Given the description of an element on the screen output the (x, y) to click on. 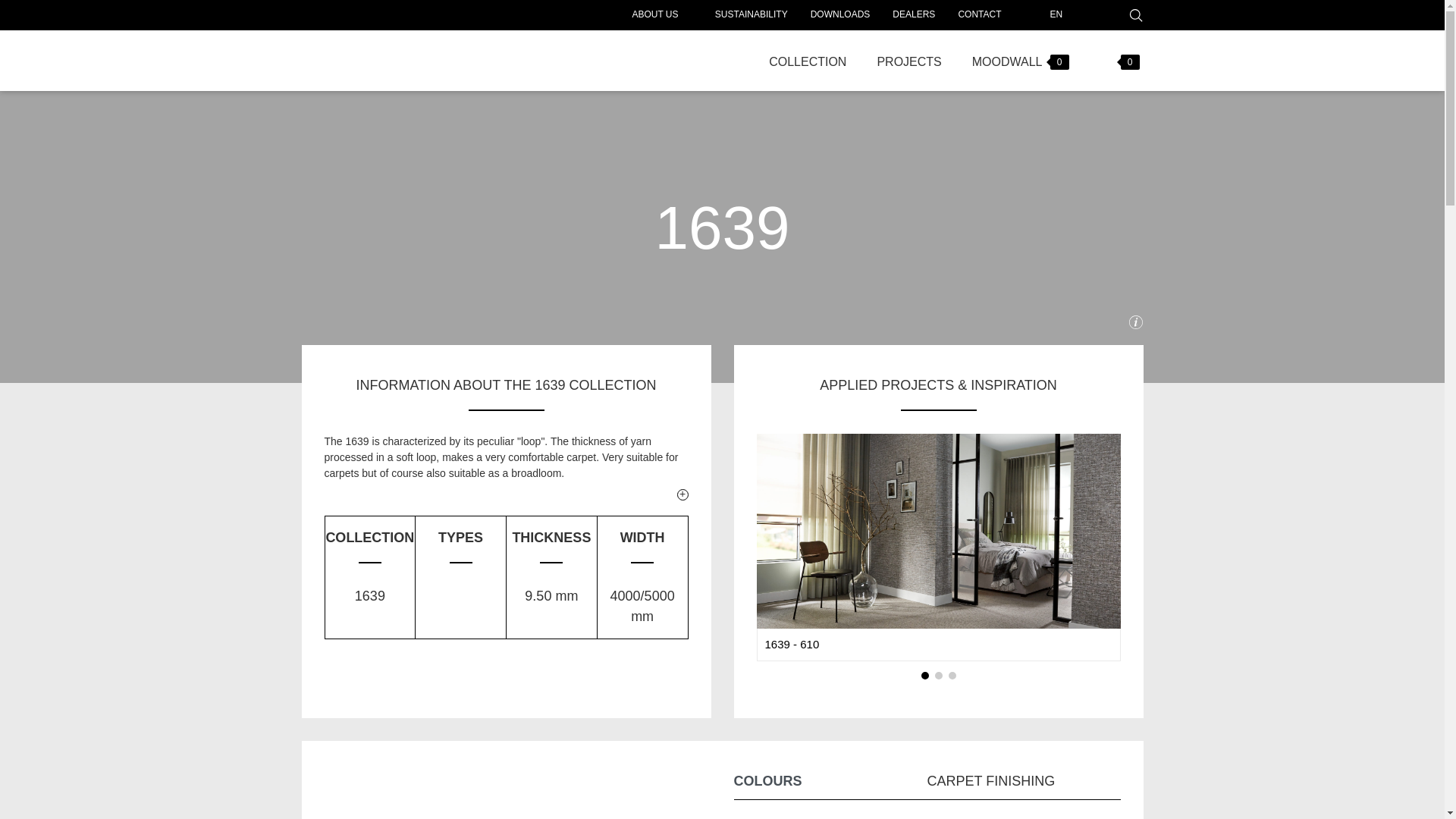
MOODWALL (1014, 60)
COLLECTION (807, 60)
English (1042, 14)
DOWNLOADS (840, 14)
CONTACT (978, 14)
ABOUT US (654, 14)
EN (1042, 14)
PROJECTS (908, 60)
DEALERS (913, 14)
SUSTAINABILITY (751, 14)
